Given the description of an element on the screen output the (x, y) to click on. 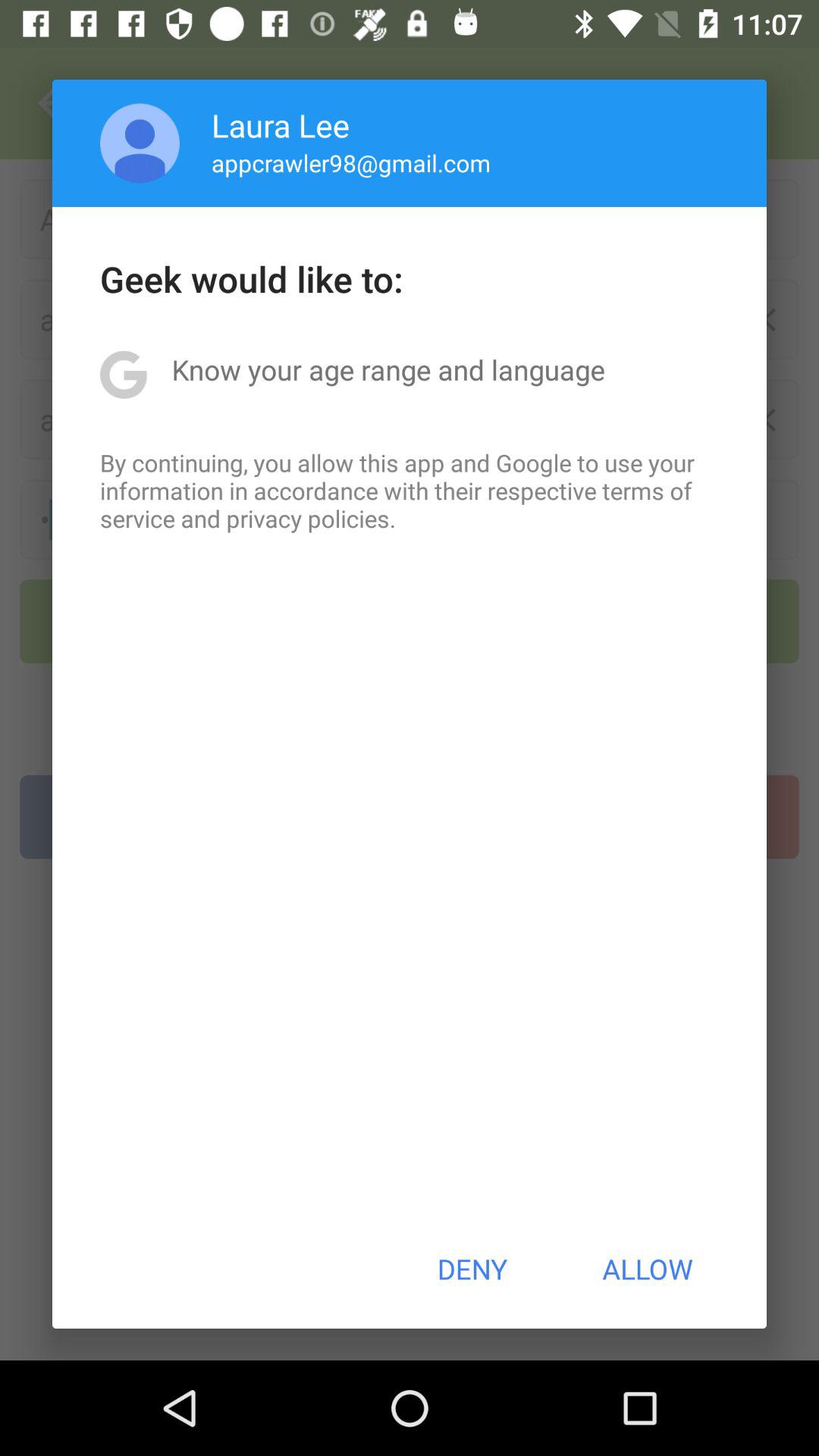
turn off app below laura lee item (350, 162)
